Given the description of an element on the screen output the (x, y) to click on. 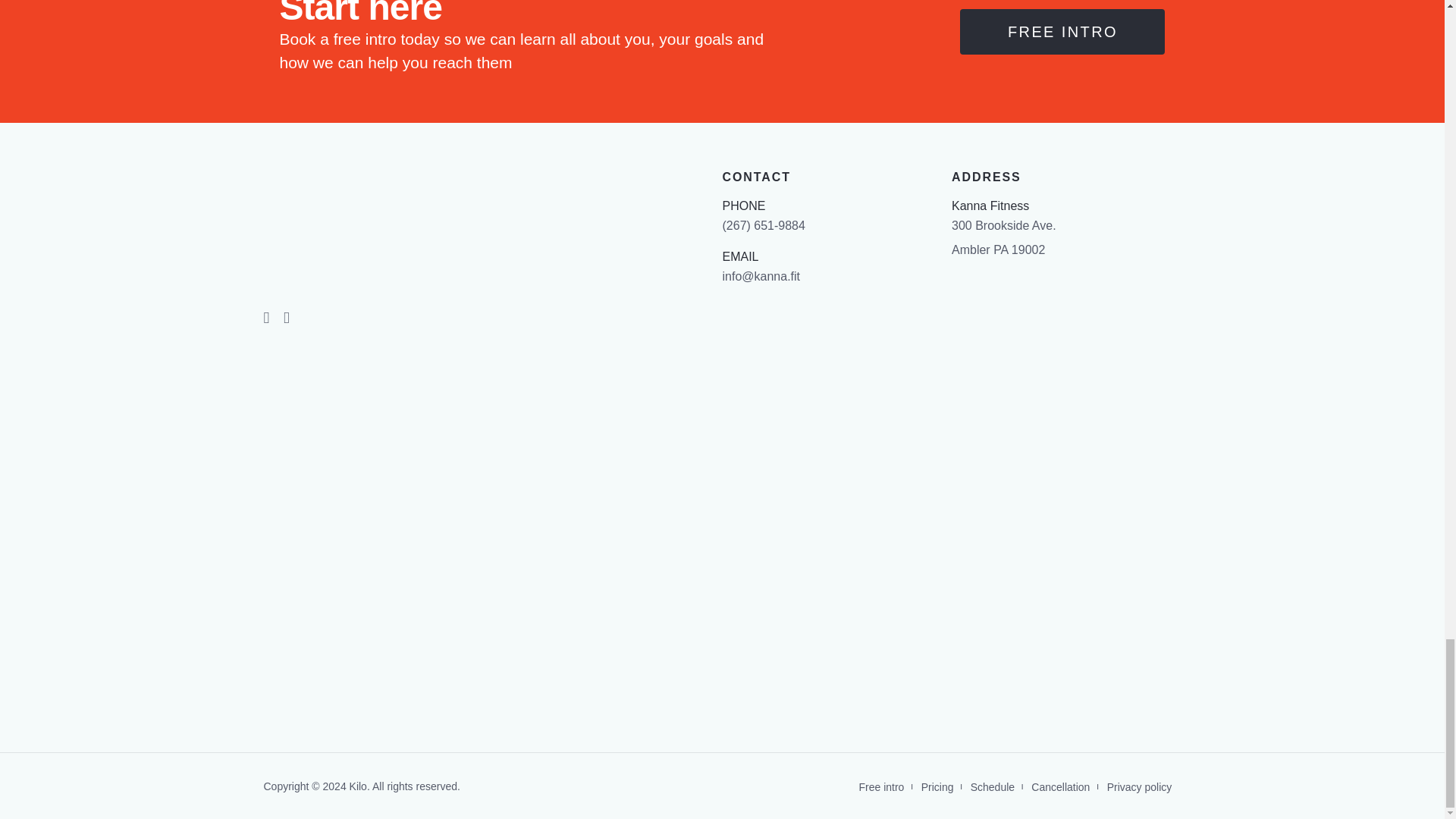
FREE INTRO (1061, 31)
